Given the description of an element on the screen output the (x, y) to click on. 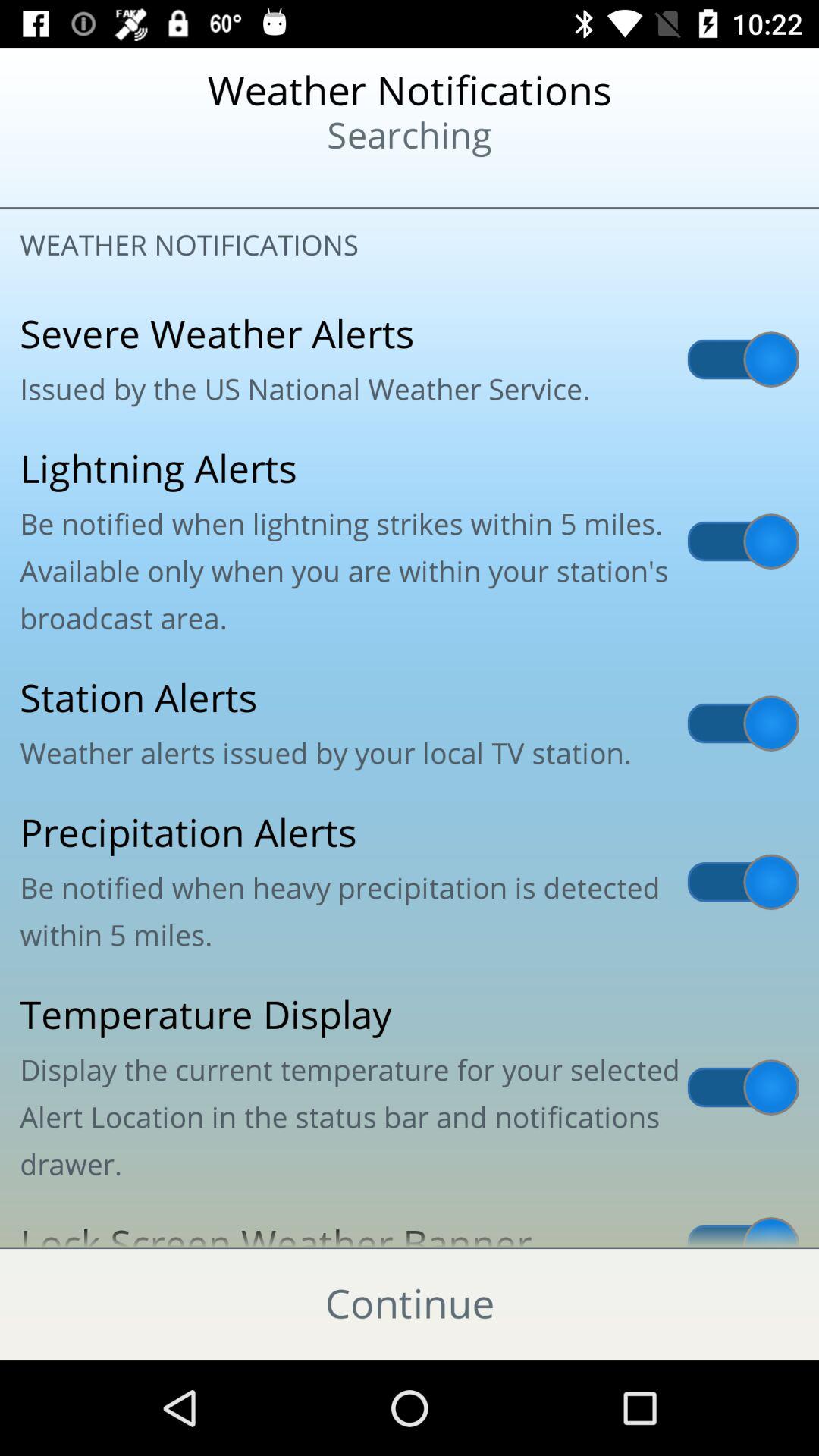
select item at the top left corner (99, 182)
